Given the description of an element on the screen output the (x, y) to click on. 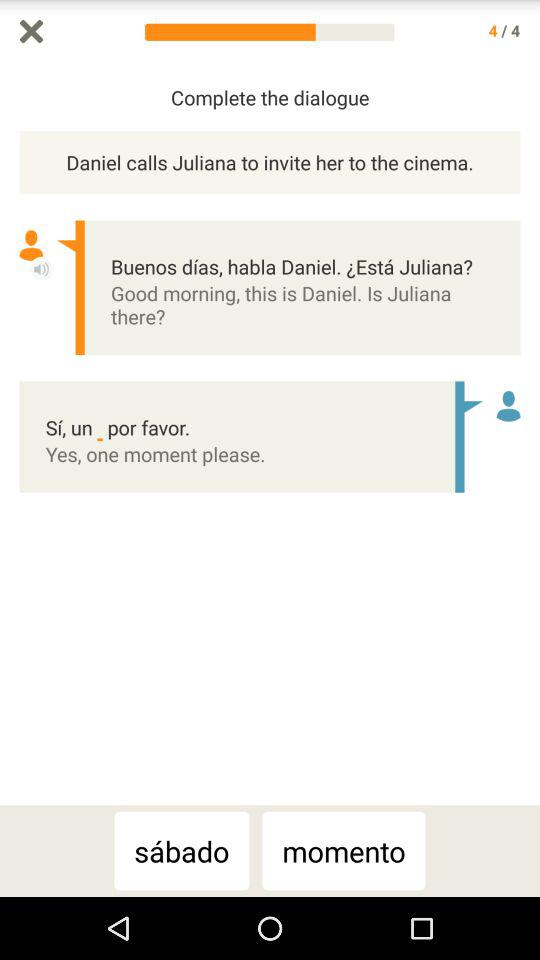
scroll bar up or down (530, 434)
